Given the description of an element on the screen output the (x, y) to click on. 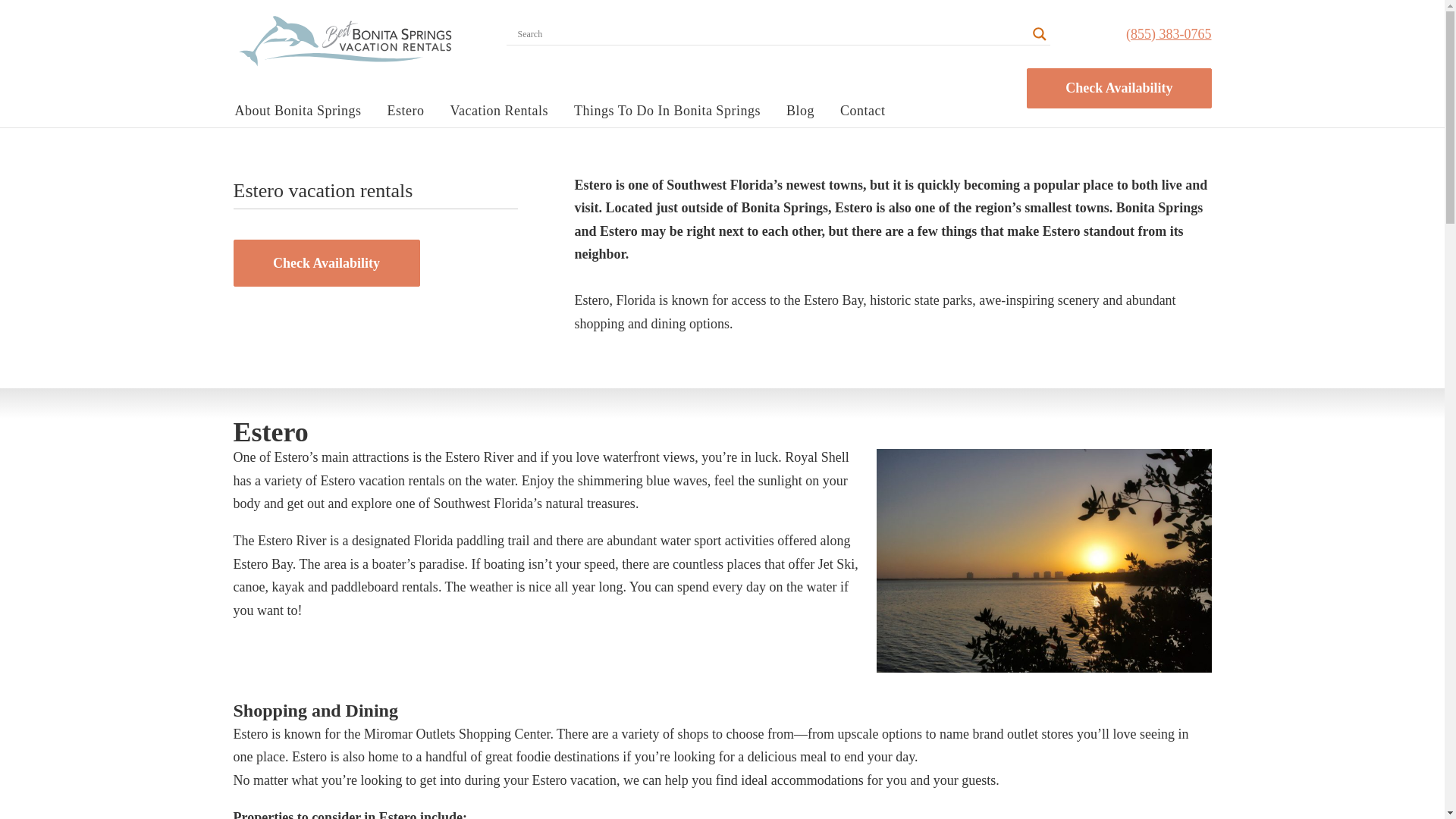
Contact (868, 106)
Things To Do In Bonita Springs (672, 106)
Estero (411, 106)
Blog (805, 106)
Check Availability (326, 263)
Vacation Rentals (504, 106)
About Bonita Springs (303, 106)
Check Availability (1118, 87)
